Given the description of an element on the screen output the (x, y) to click on. 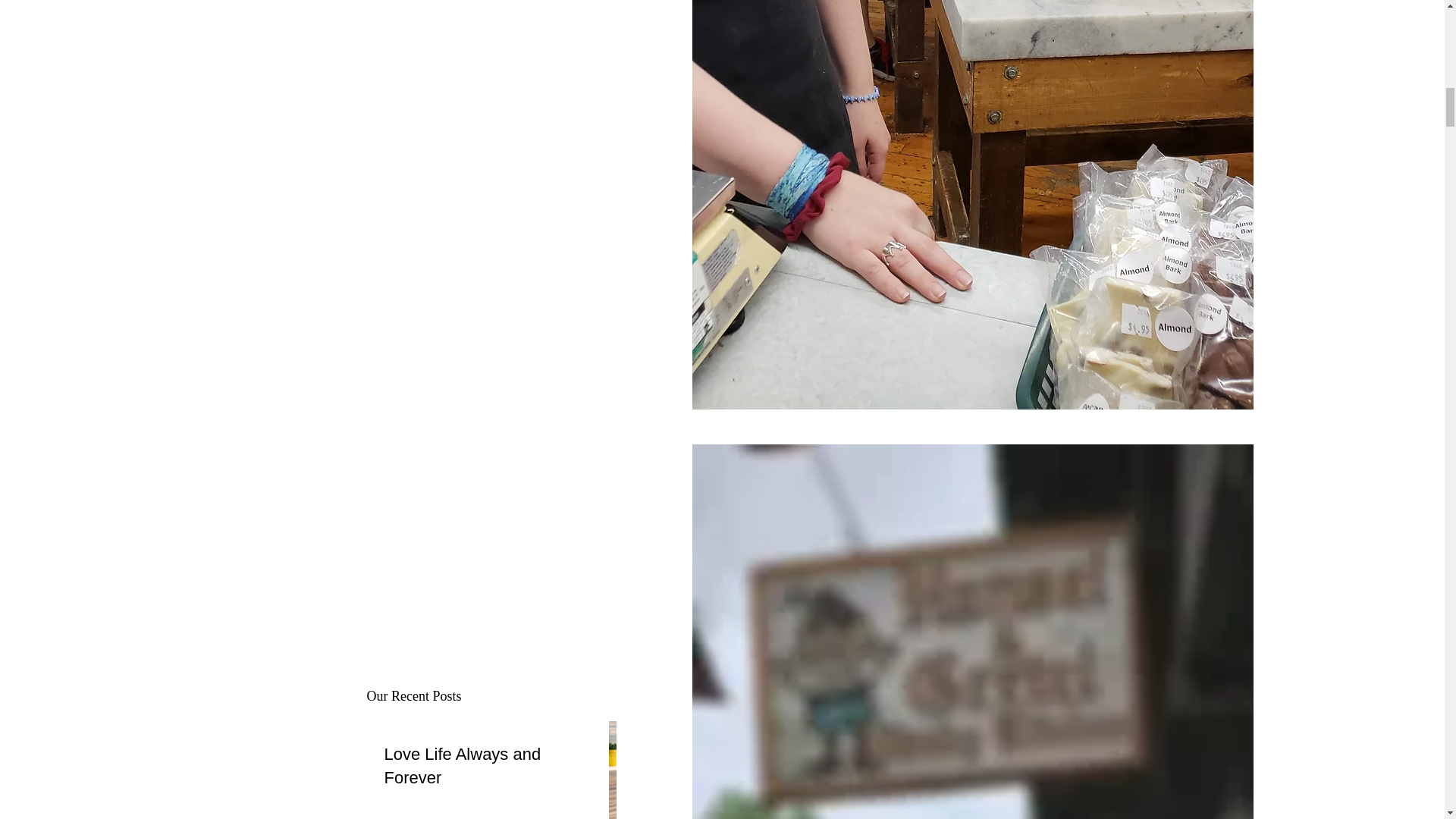
Love Life Always and Forever (479, 766)
